Given the description of an element on the screen output the (x, y) to click on. 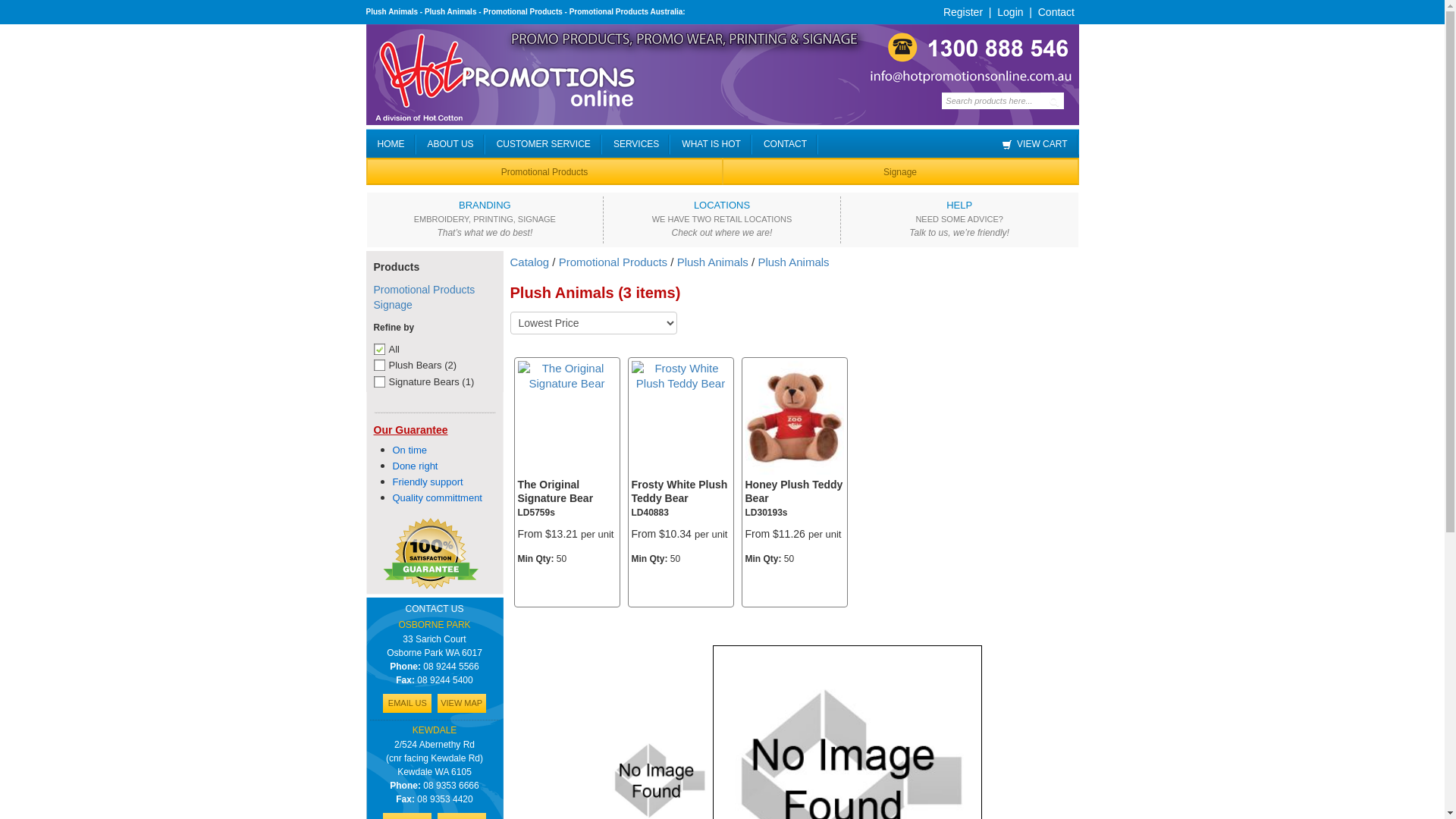
Login Element type: text (1009, 12)
The Original Signature Bear Element type: hover (566, 374)
Catalog Element type: text (529, 261)
Search Element type: hover (1053, 100)
Signage Element type: text (392, 304)
Hot Promotions Element type: hover (721, 74)
Frosty White Plush Teddy Bear Element type: hover (679, 375)
Contact Element type: text (1056, 12)
VIEW CART Element type: text (1039, 144)
CONTACT Element type: text (790, 144)
Frosty White Plush Teddy Bear Element type: hover (679, 374)
Honey Plush Teddy Bear Element type: text (793, 491)
HOME Element type: text (396, 144)
ABOUT US Element type: text (456, 144)
Promotional Products Element type: text (423, 289)
The Original Signature Bear Element type: hover (566, 375)
EMAIL US Element type: text (406, 702)
Register Element type: text (962, 12)
Frosty White Plush Teddy Bear Element type: text (678, 491)
Promotional Products Element type: text (544, 172)
Honey Plush Teddy Bear Element type: hover (793, 417)
Honey Plush Teddy Bear Element type: hover (793, 417)
VIEW MAP Element type: text (461, 702)
Plush Animals Element type: text (792, 261)
Plush Animals Element type: text (712, 261)
Search Element type: text (26, 11)
Signage Element type: text (900, 172)
The Original Signature Bear Element type: text (555, 491)
Promotional Products Element type: text (612, 261)
